Given the description of an element on the screen output the (x, y) to click on. 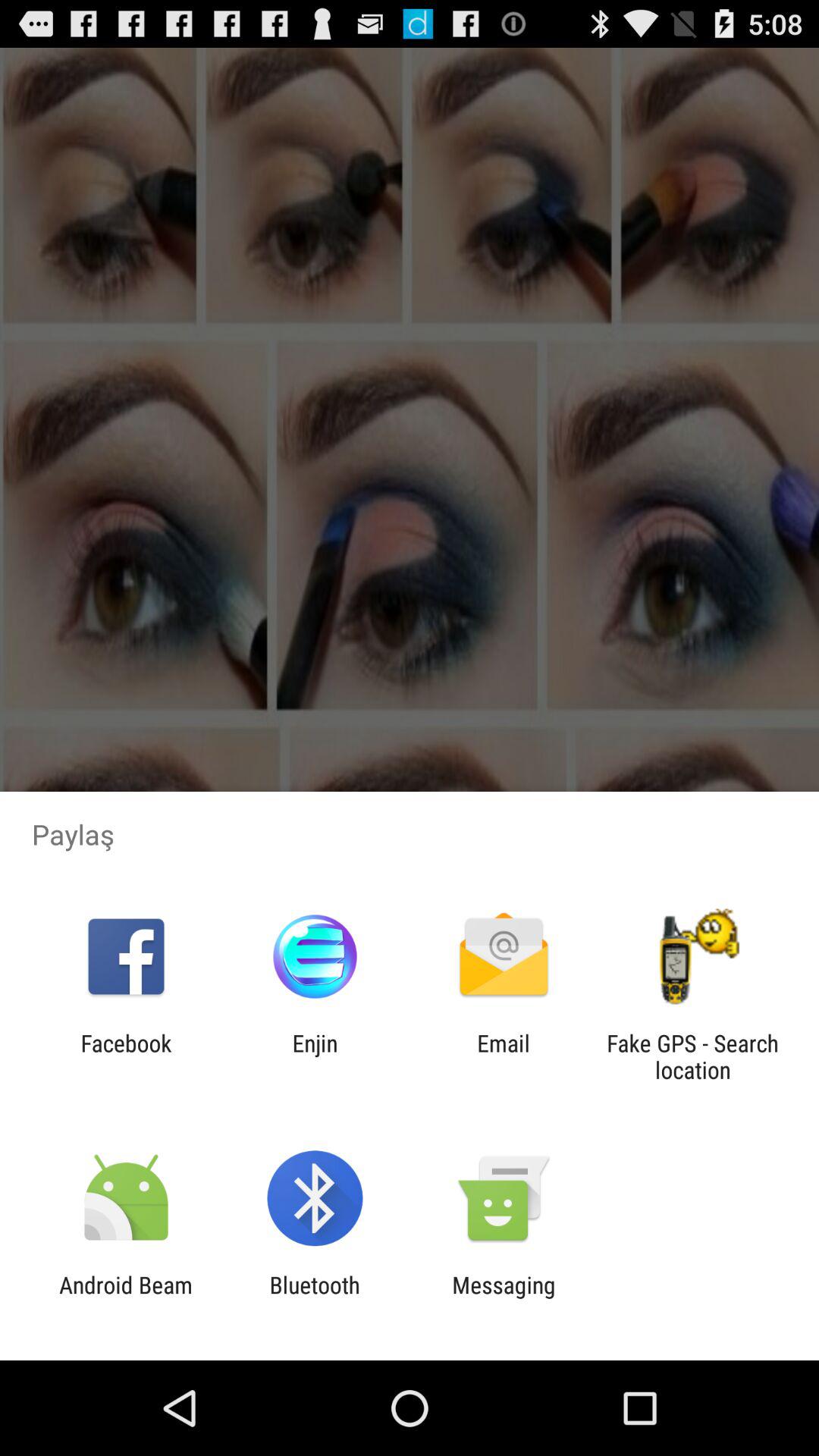
press the item next to bluetooth app (125, 1298)
